Given the description of an element on the screen output the (x, y) to click on. 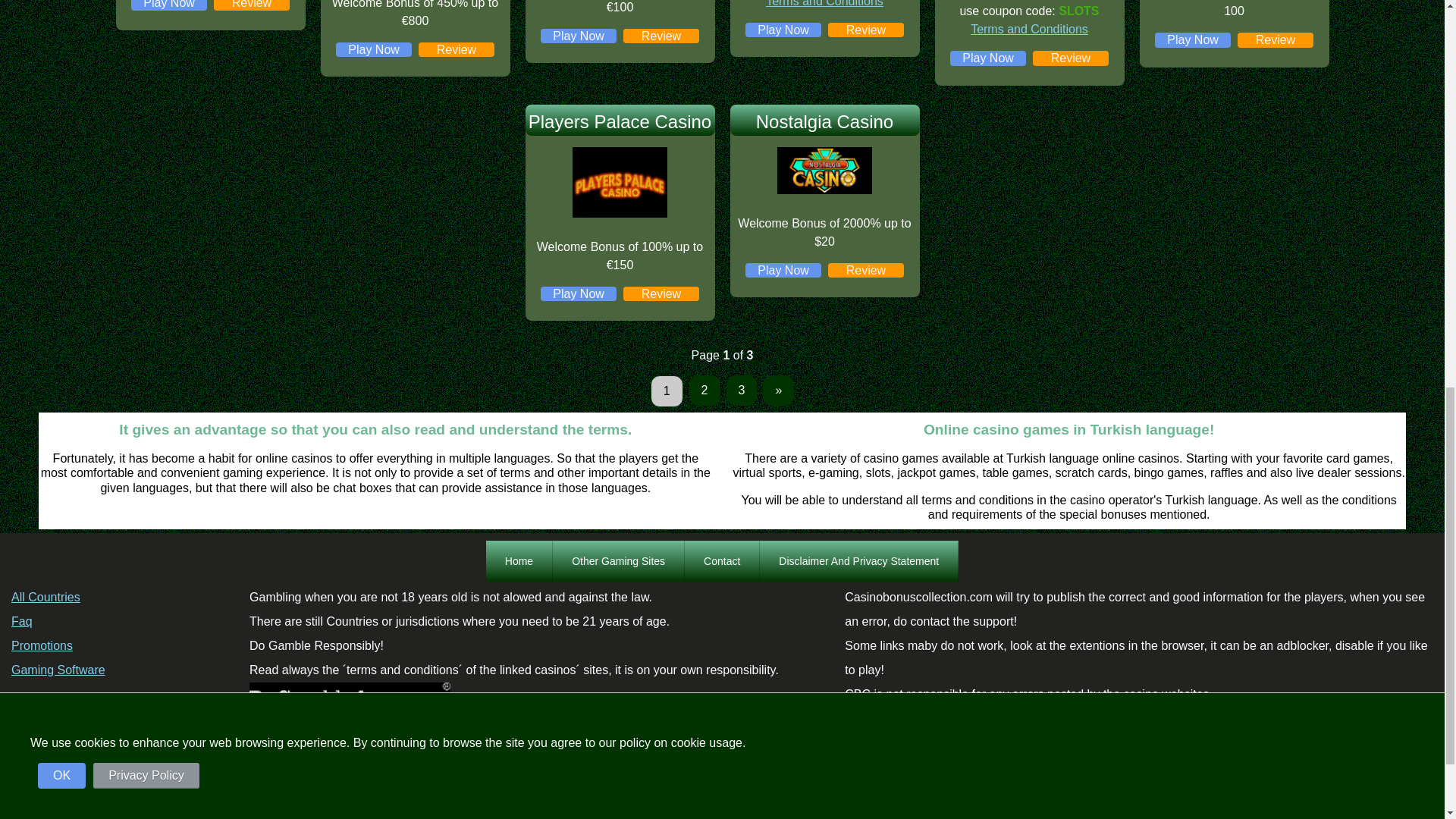
Terms and Conditions energy casino (824, 3)
Disclaimer And Privacy Statement (859, 560)
Links (618, 560)
BeGambleAware (348, 695)
Terms and Conditions Winz Casino (1029, 29)
Home (518, 560)
BeGambleAware (348, 703)
